Given the description of an element on the screen output the (x, y) to click on. 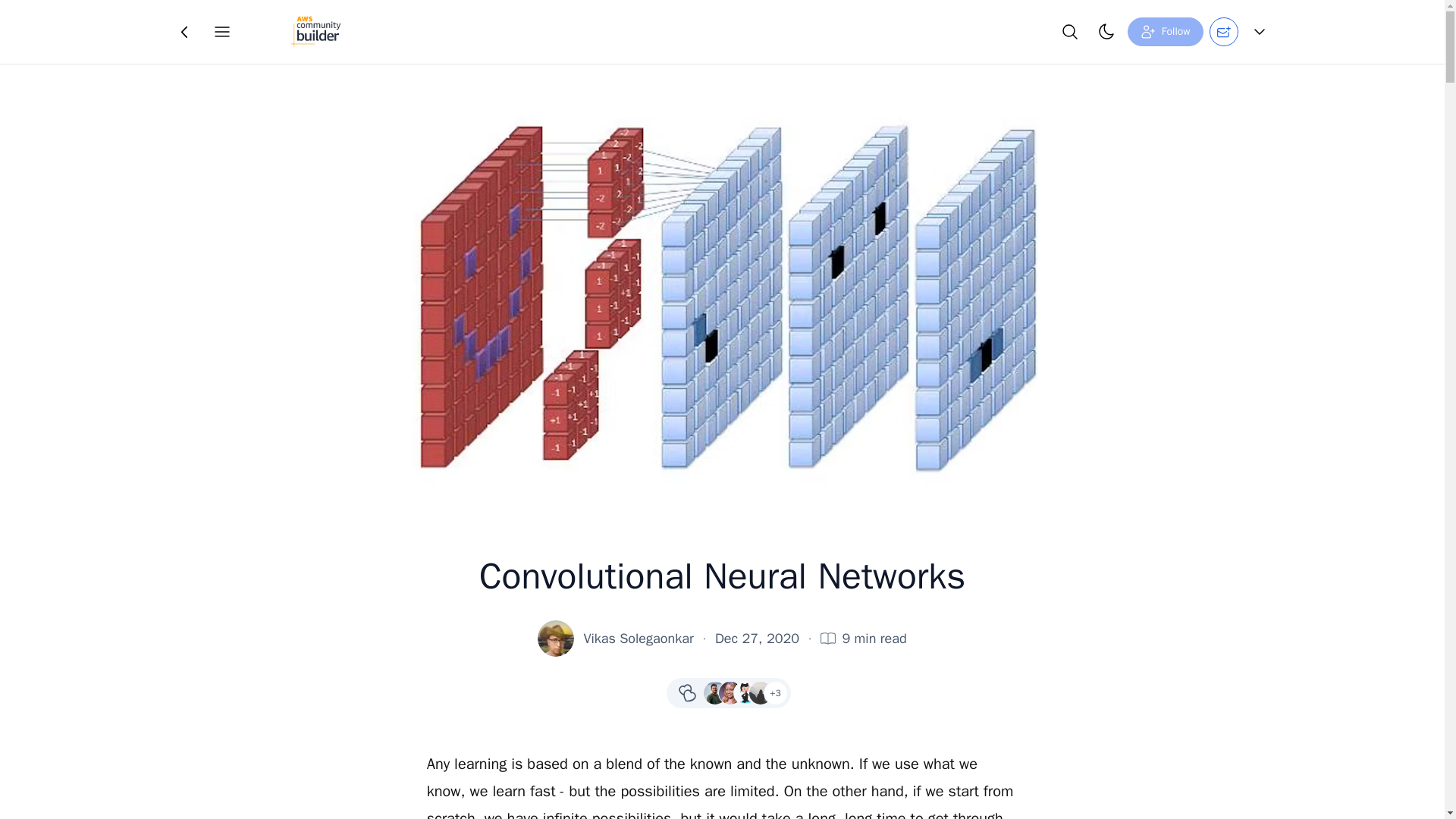
Vikas Solegaonkar (638, 638)
Dec 27, 2020 (756, 638)
Follow (1165, 31)
